Given the description of an element on the screen output the (x, y) to click on. 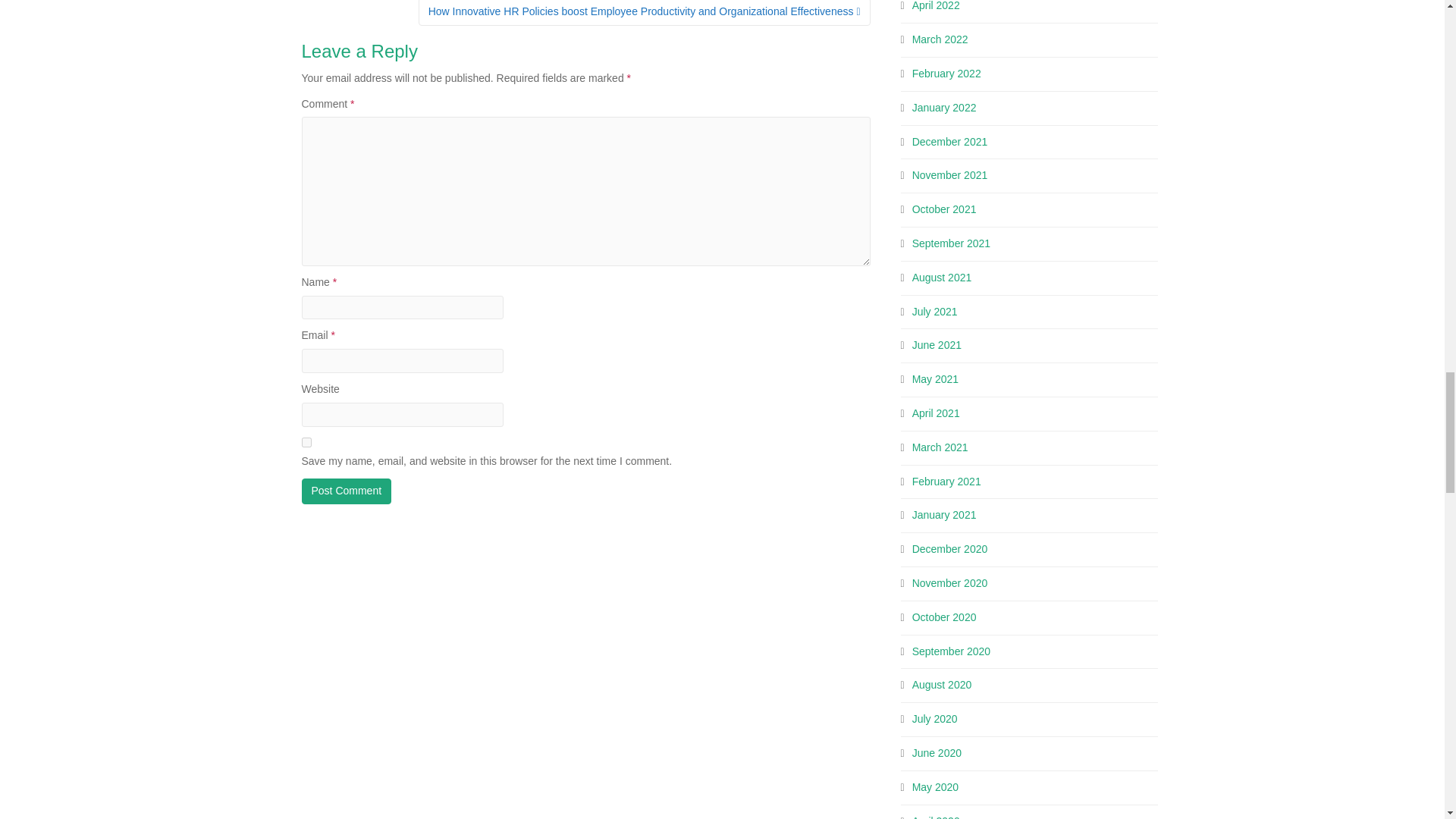
Post Comment (346, 491)
yes (306, 442)
Post Comment (346, 491)
